Given the description of an element on the screen output the (x, y) to click on. 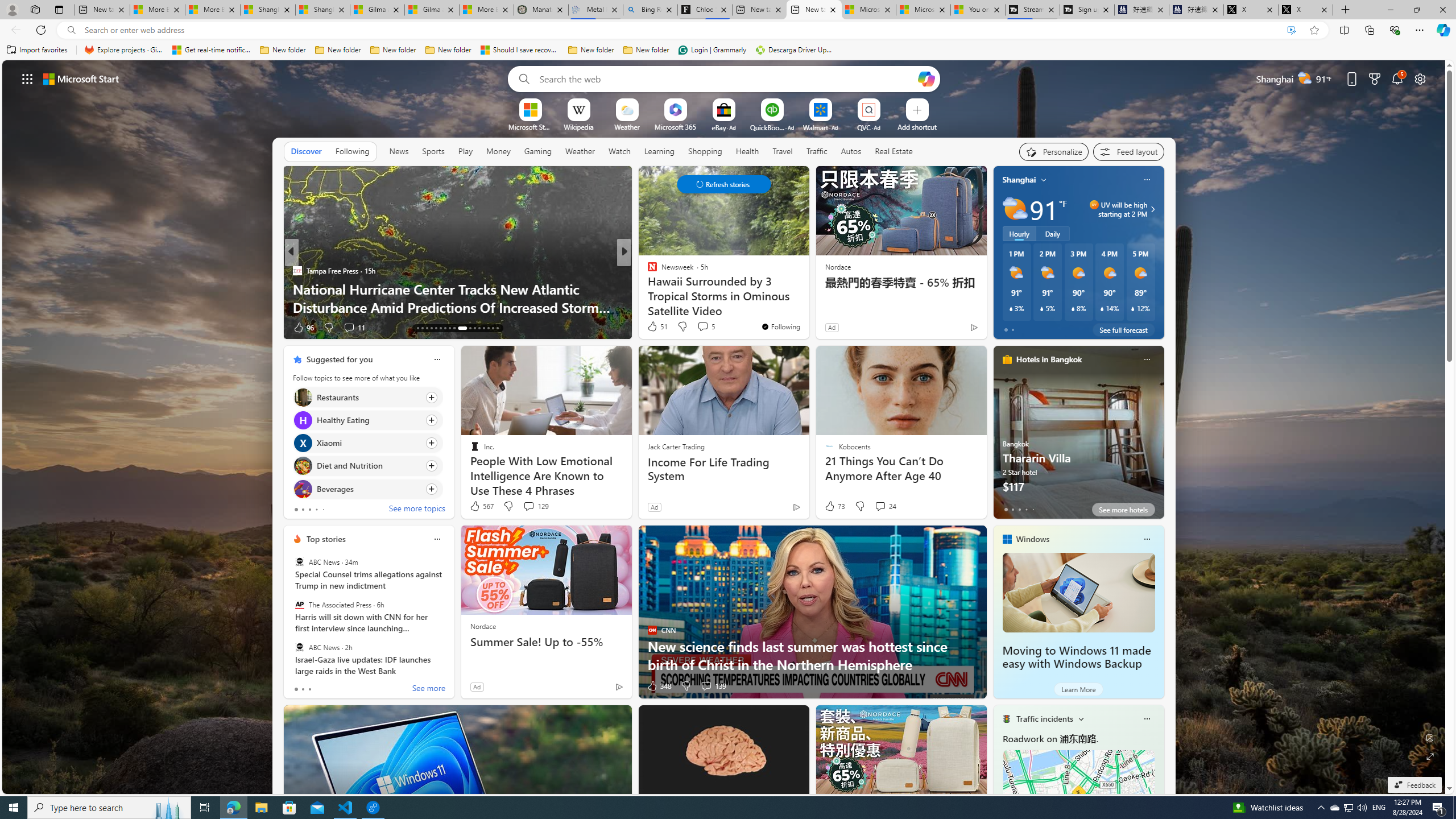
AutomationID: tab-17 (417, 328)
AutomationID: tab-24 (449, 328)
Click to follow topic Beverages (367, 488)
Viral Tech (647, 288)
See full forecast (1123, 329)
View comments 5 Comment (703, 326)
Shopping (705, 151)
